Given the description of an element on the screen output the (x, y) to click on. 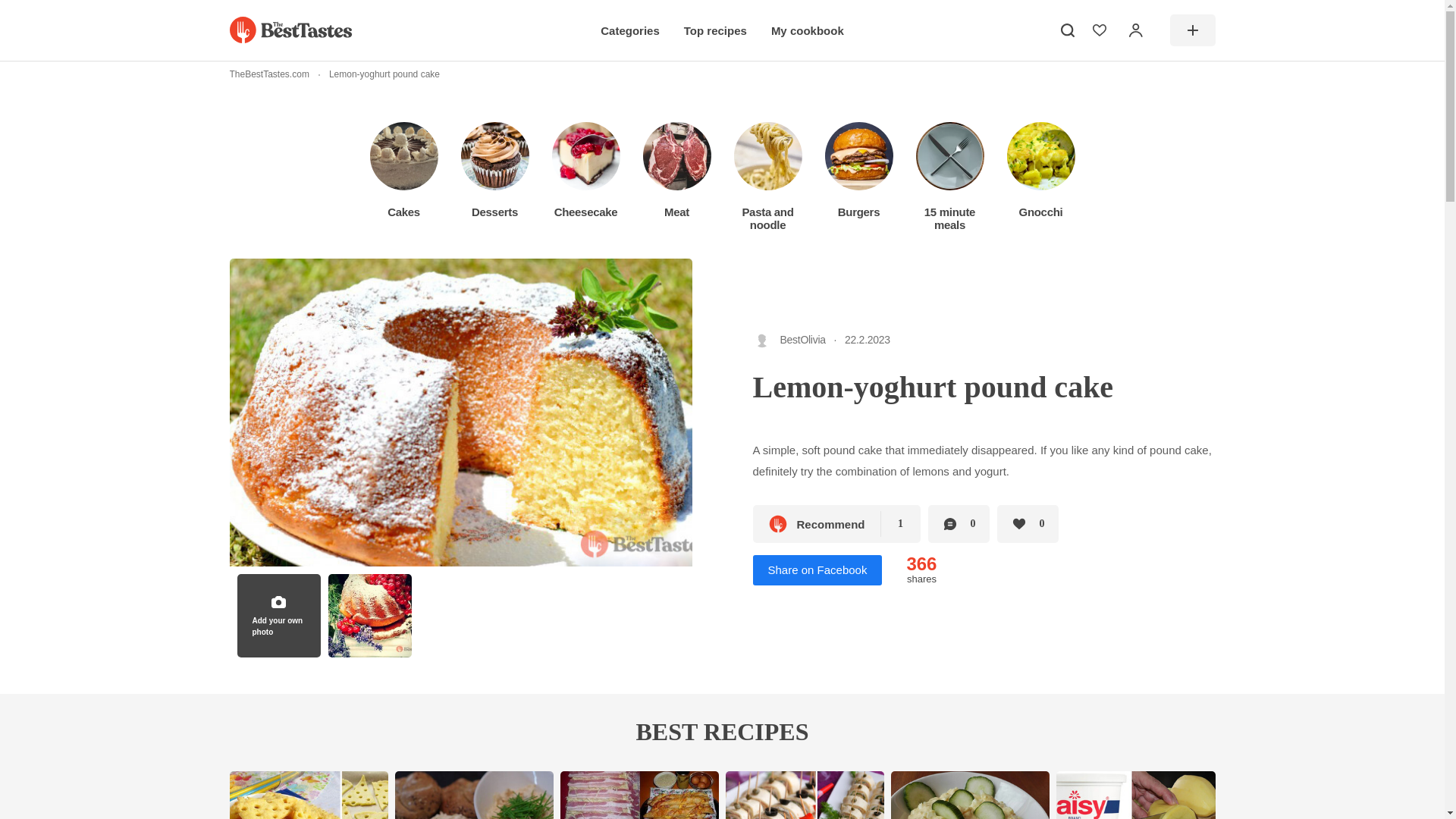
Top recipes (715, 30)
TheBestTastes.com (268, 74)
Lemon-yoghurt pound cake (373, 74)
Categories (629, 30)
My cookbook (807, 30)
TheBestTastes.com (290, 30)
